Given the description of an element on the screen output the (x, y) to click on. 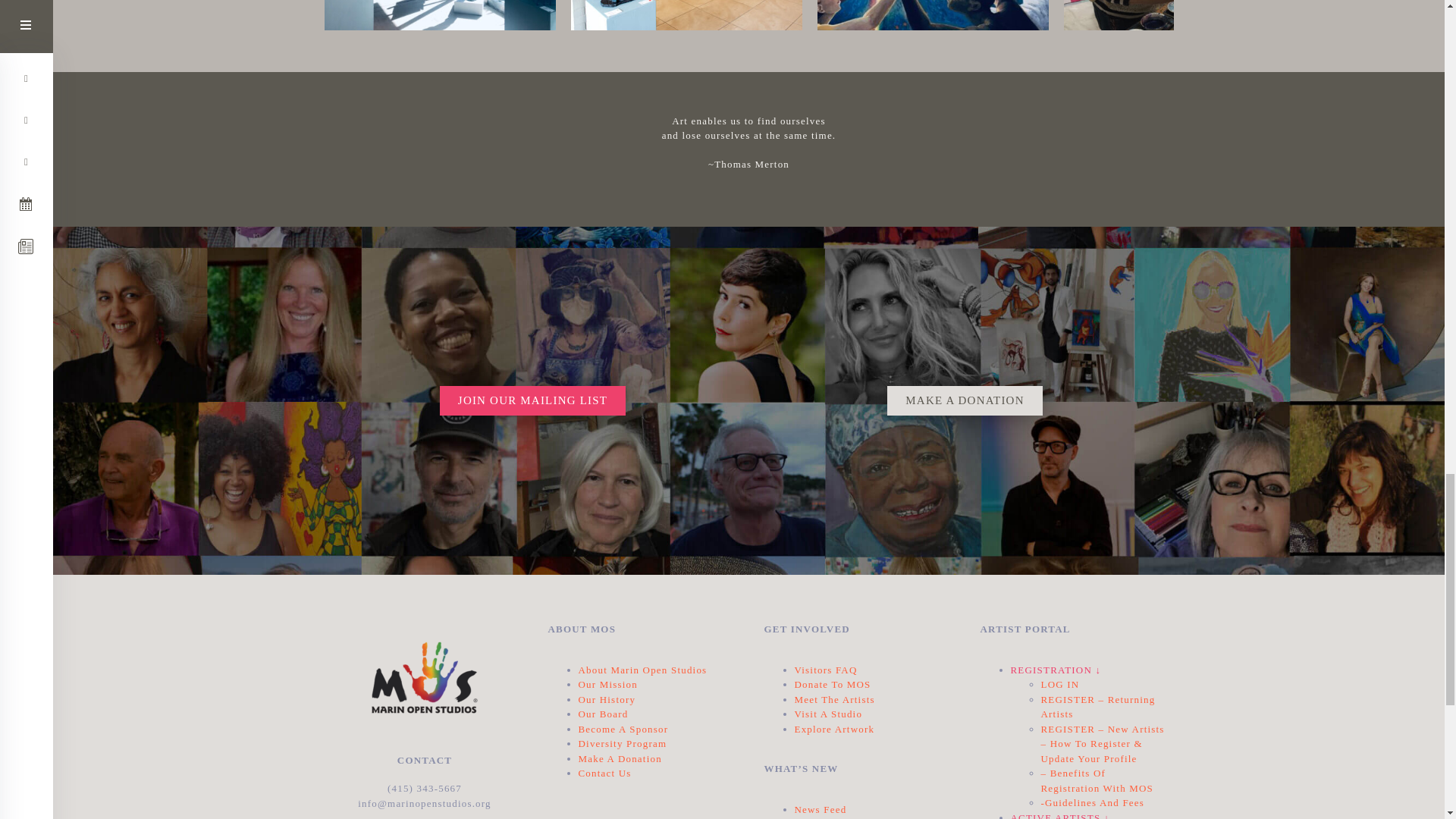
JOIN OUR MAILING LIST (532, 400)
